Given the description of an element on the screen output the (x, y) to click on. 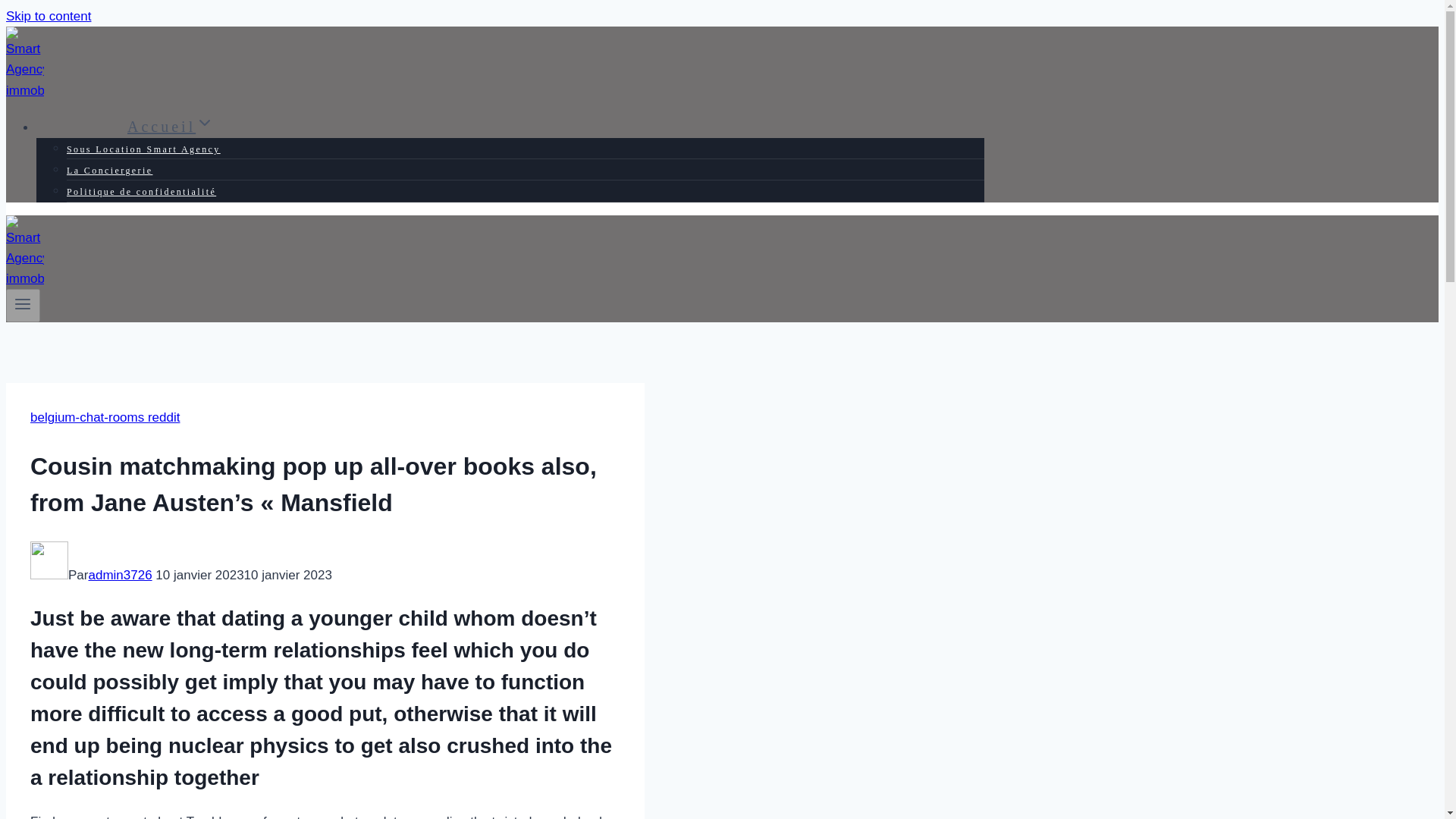
Skip to content (47, 16)
La Conciergerie (109, 170)
belgium-chat-rooms reddit (104, 417)
AccueilExpand (170, 126)
Toggle Menu (22, 303)
Sous Location Smart Agency (143, 149)
Toggle Menu (22, 305)
admin3726 (119, 575)
Expand (204, 122)
